Given the description of an element on the screen output the (x, y) to click on. 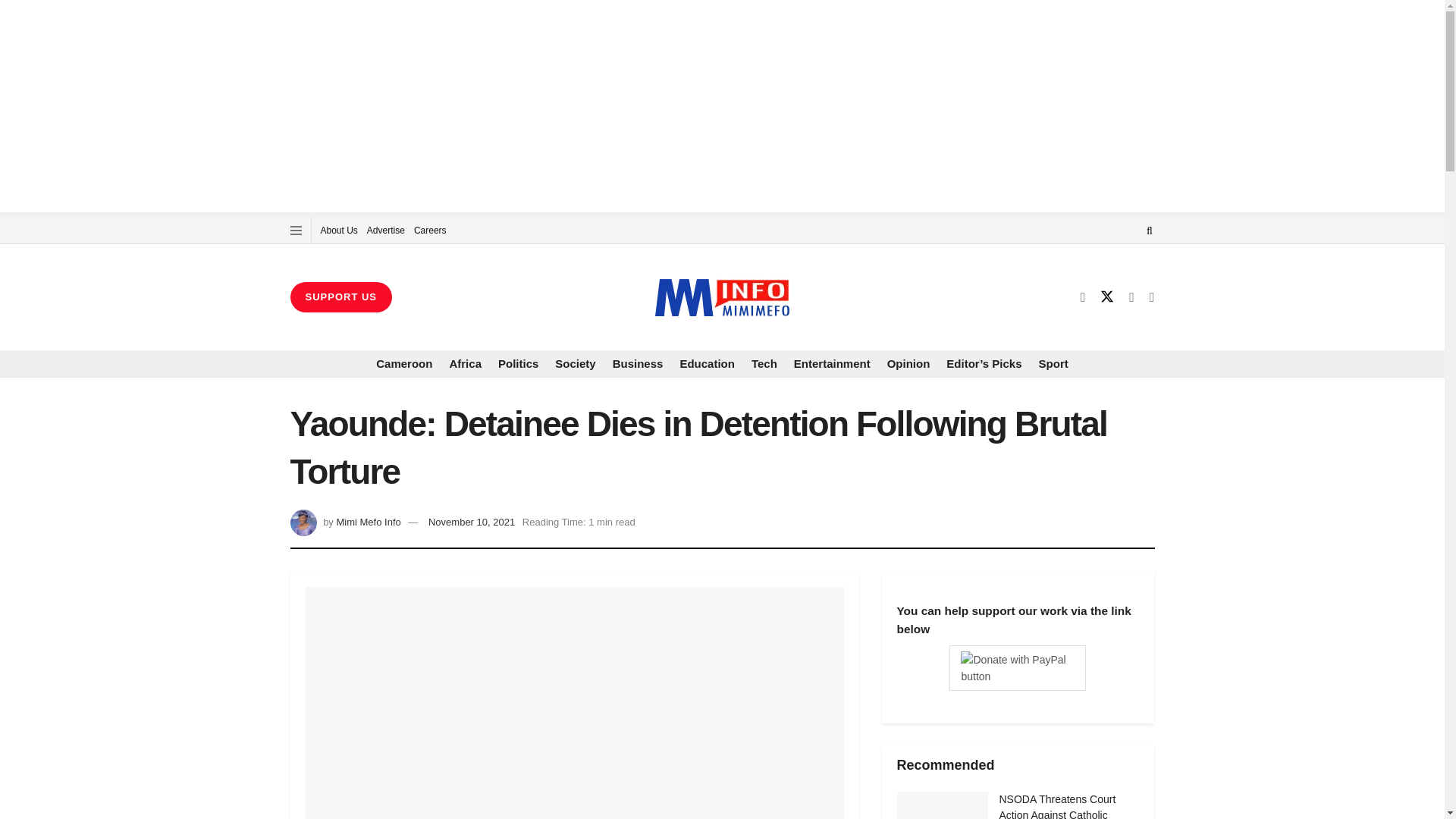
PayPal - The safer, easier way to pay online! (1017, 668)
Society (574, 363)
Entertainment (831, 363)
Tech (764, 363)
About Us (338, 230)
Education (707, 363)
Opinion (908, 363)
Careers (429, 230)
Advertise (385, 230)
Sport (1053, 363)
Business (637, 363)
Cameroon (403, 363)
Politics (517, 363)
Africa (464, 363)
SUPPORT US (340, 296)
